Given the description of an element on the screen output the (x, y) to click on. 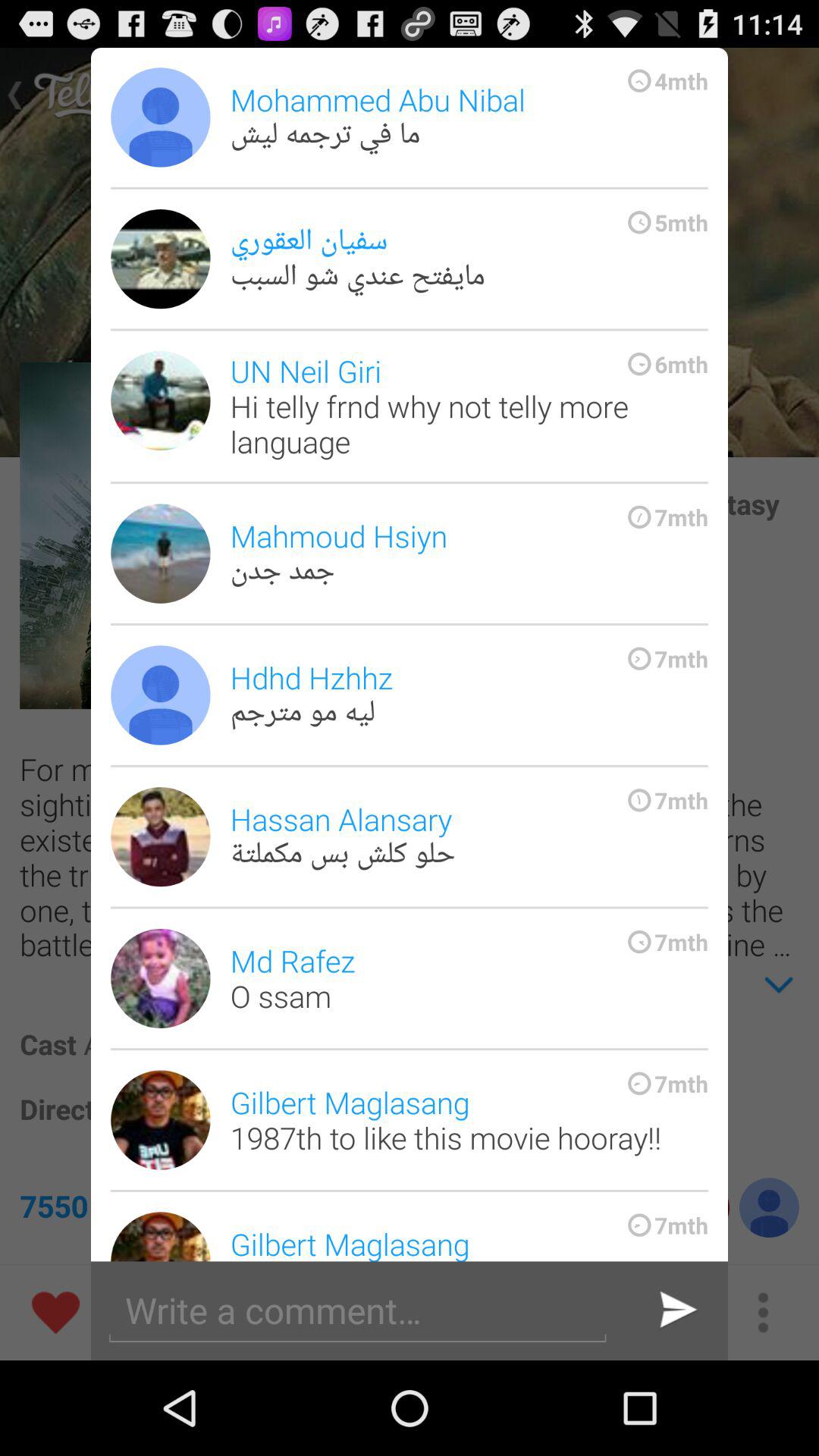
turn on the un neil giri icon (469, 405)
